Given the description of an element on the screen output the (x, y) to click on. 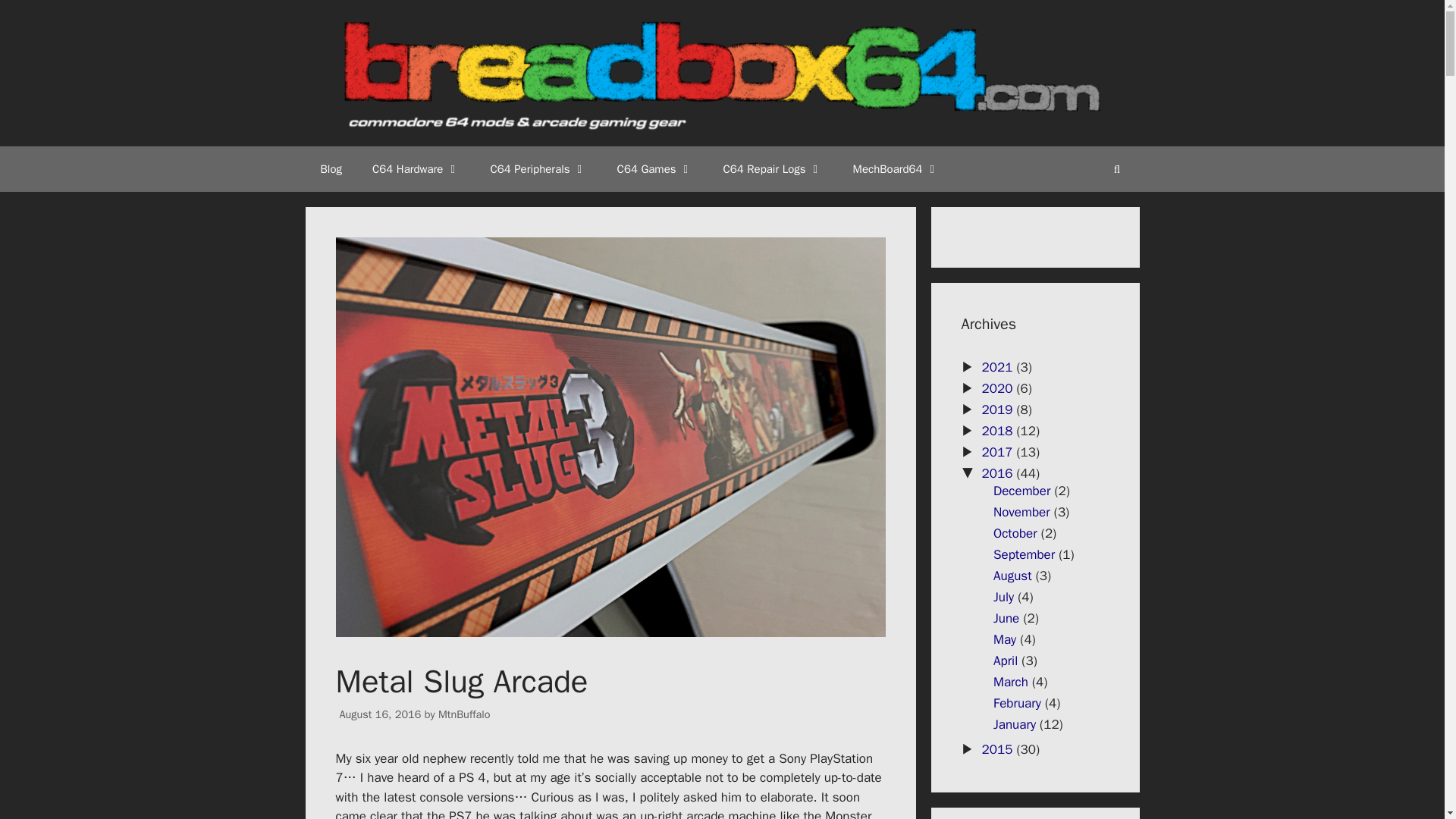
Blog (330, 168)
C64 Hardware (415, 168)
C64 Peripherals (537, 168)
View all posts by MtnBuffalo (464, 714)
Blog (330, 168)
C64 Repair Logs (772, 168)
C64 Games (654, 168)
